Given the description of an element on the screen output the (x, y) to click on. 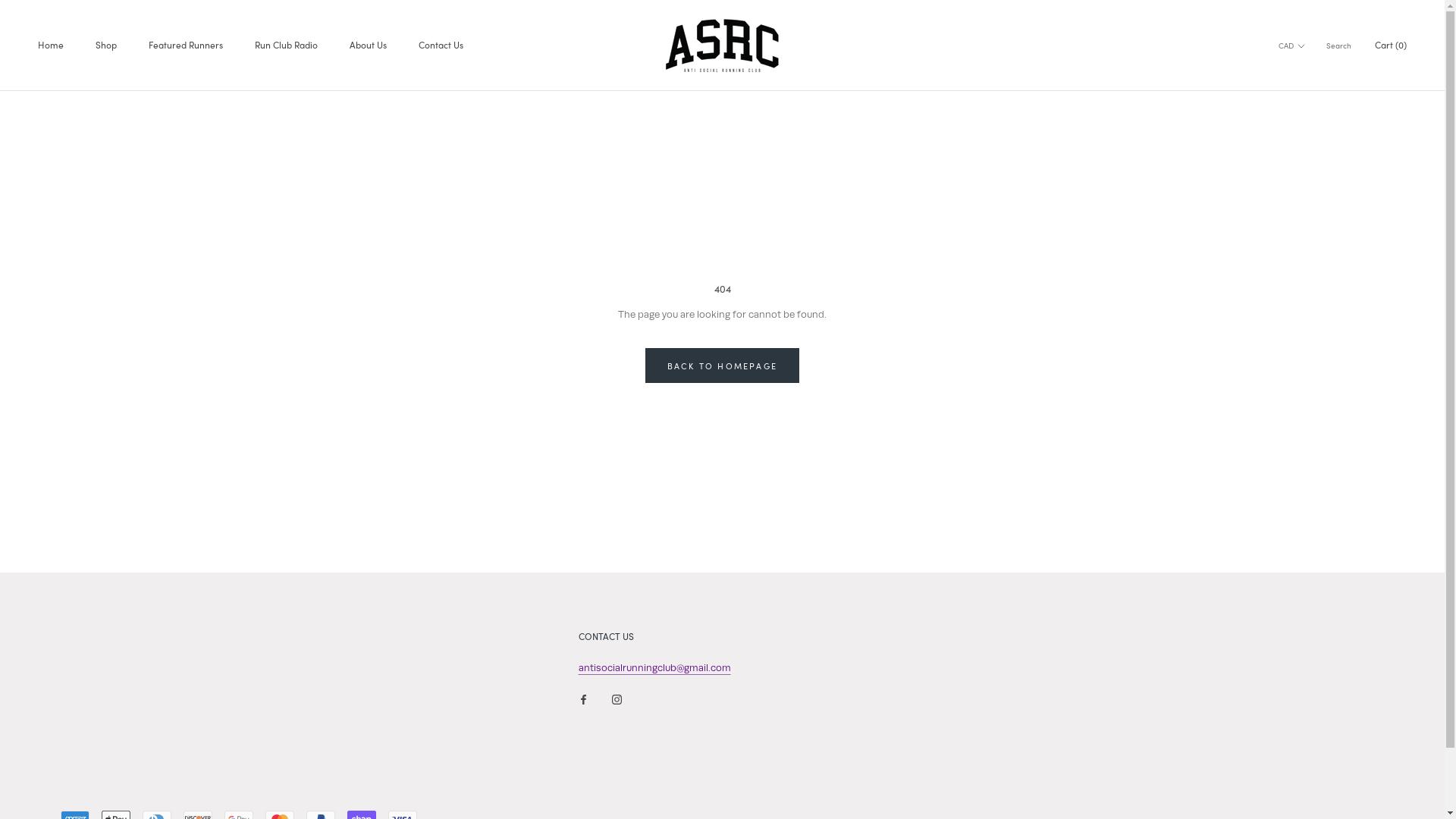
BACK TO HOMEPAGE Element type: text (722, 365)
Featured Runners
Featured Runners Element type: text (185, 44)
Home
Home Element type: text (50, 44)
Contact Us
Contact Us Element type: text (440, 44)
Search Element type: text (1338, 45)
About Us
About Us Element type: text (367, 44)
Cart (0) Element type: text (1390, 44)
Run Club Radio
Run Club Radio Element type: text (285, 44)
Shop
Shop Element type: text (105, 44)
antisocialrunningclub@gmail.com Element type: text (653, 667)
